Given the description of an element on the screen output the (x, y) to click on. 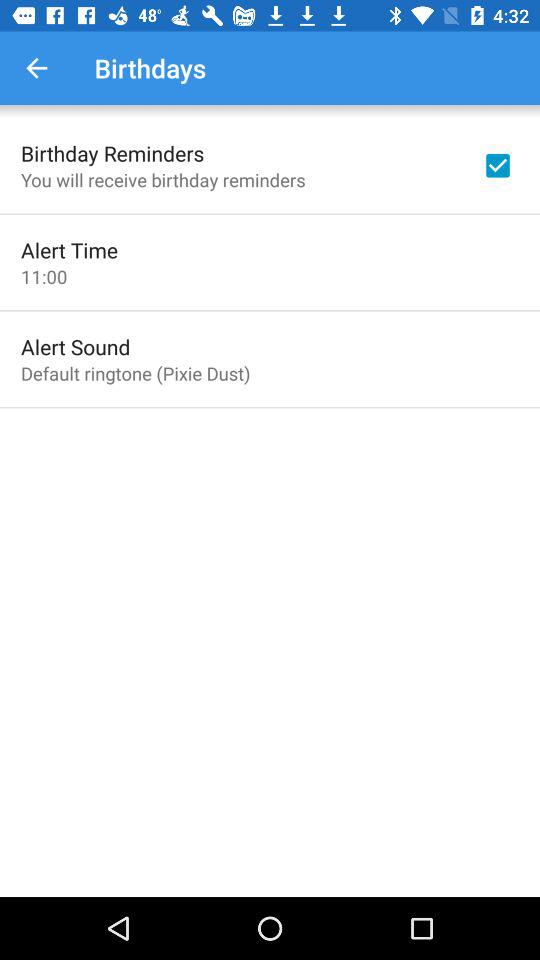
press item to the left of the birthdays icon (36, 68)
